Given the description of an element on the screen output the (x, y) to click on. 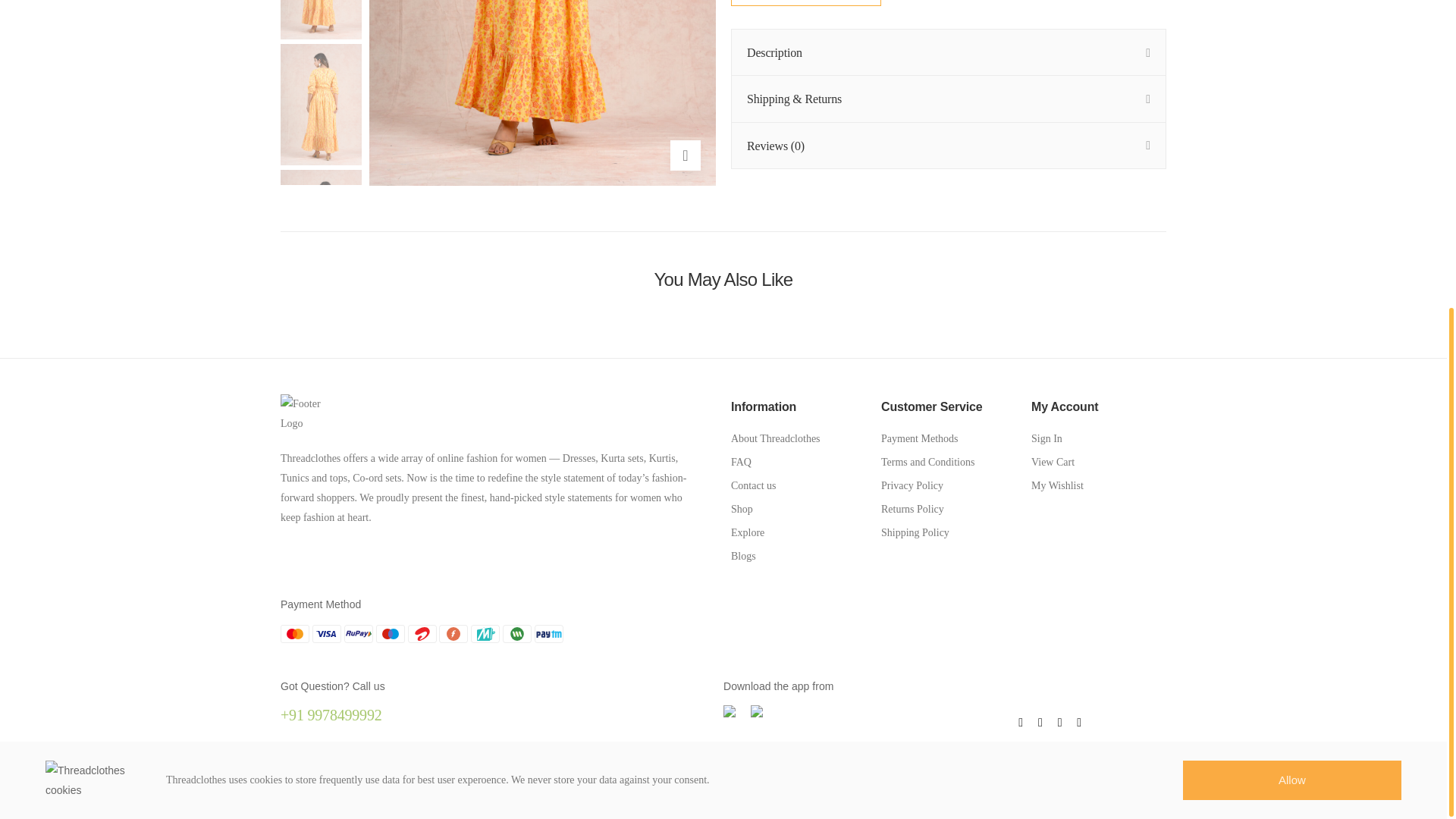
ADD TO CART (805, 2)
Google Play Store (756, 711)
Freecharge (453, 633)
RuPay (357, 633)
Mastercard (294, 633)
Paytm (548, 633)
MobiKwik (484, 633)
Ola Money (516, 633)
Maestro (389, 633)
Apple Play Store (729, 711)
